Given the description of an element on the screen output the (x, y) to click on. 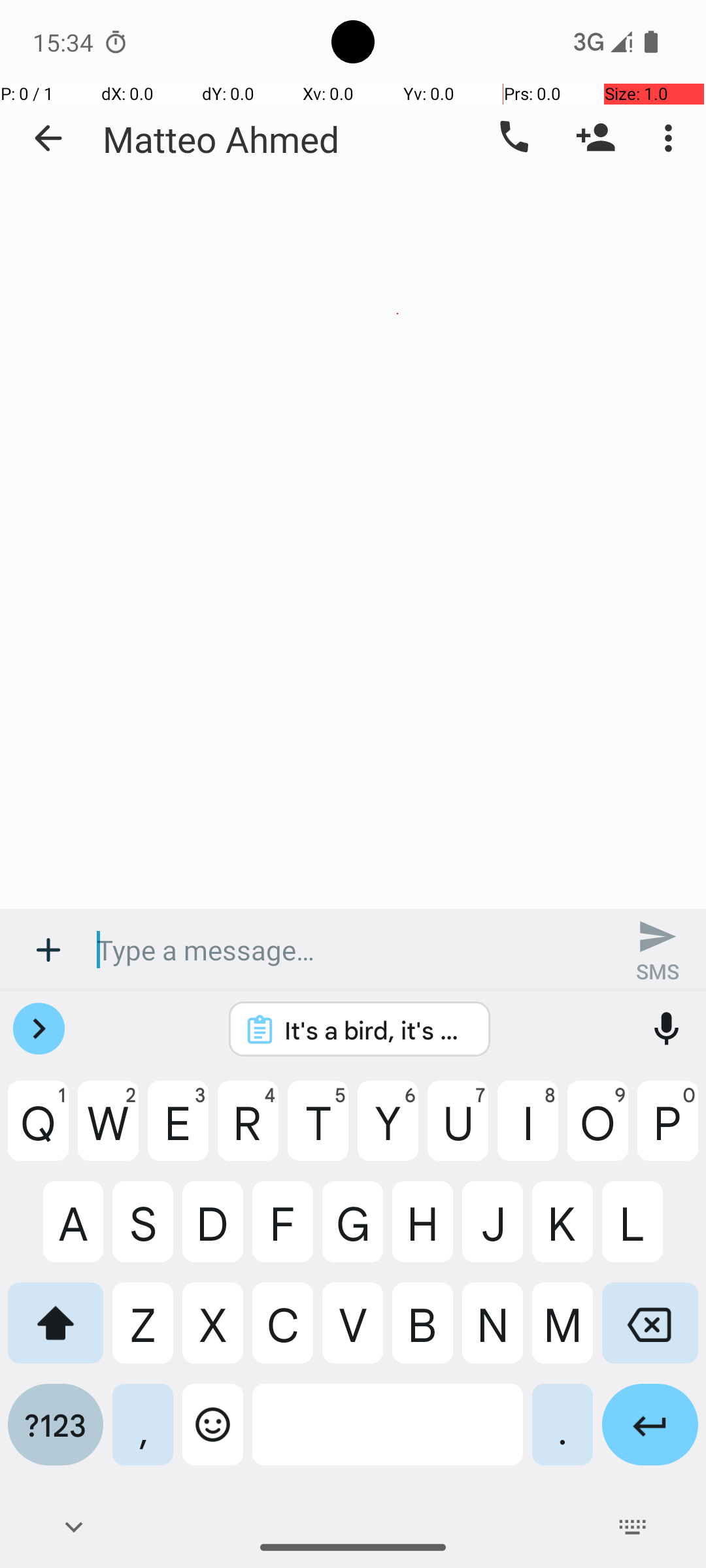
Matteo Ahmed Element type: android.widget.TextView (220, 138)
